Given the description of an element on the screen output the (x, y) to click on. 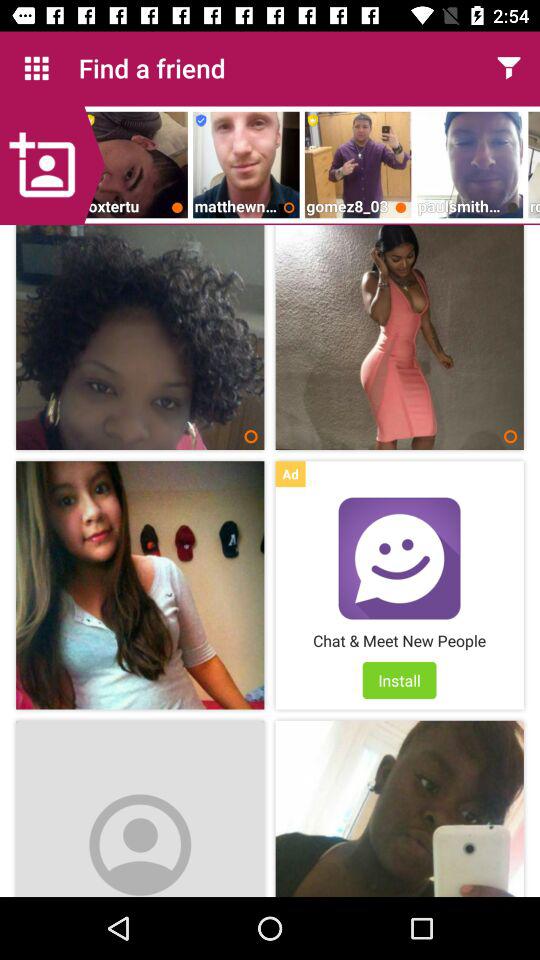
share link (508, 67)
